Given the description of an element on the screen output the (x, y) to click on. 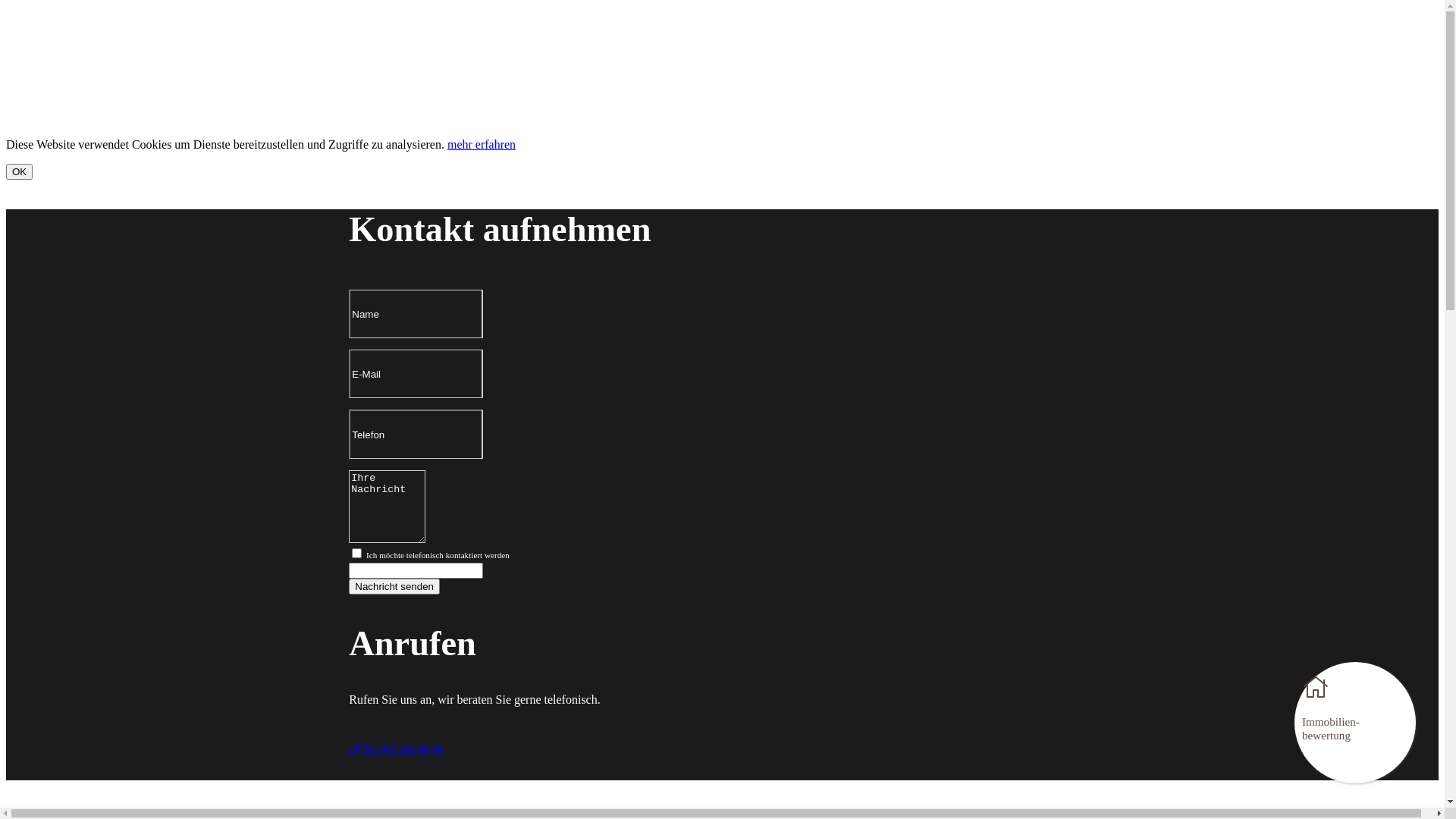
Tel. 052 202 88 38 Element type: text (685, 750)
Nachricht senden Element type: text (393, 586)
mehr erfahren Element type: text (481, 144)
Immobilien-
bewertung Element type: text (1354, 722)
OK Element type: text (19, 171)
